Given the description of an element on the screen output the (x, y) to click on. 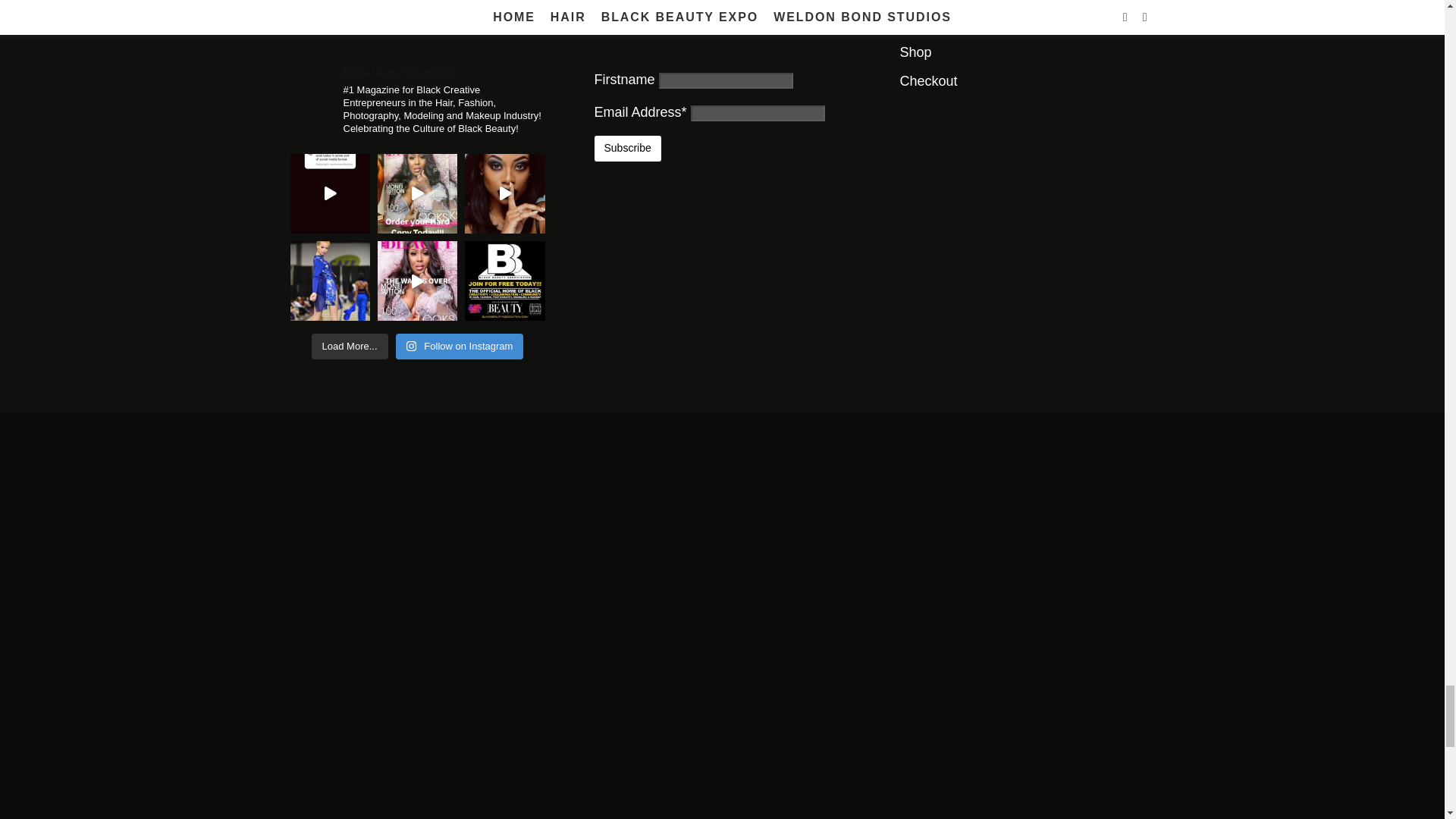
Subscribe (627, 148)
